Given the description of an element on the screen output the (x, y) to click on. 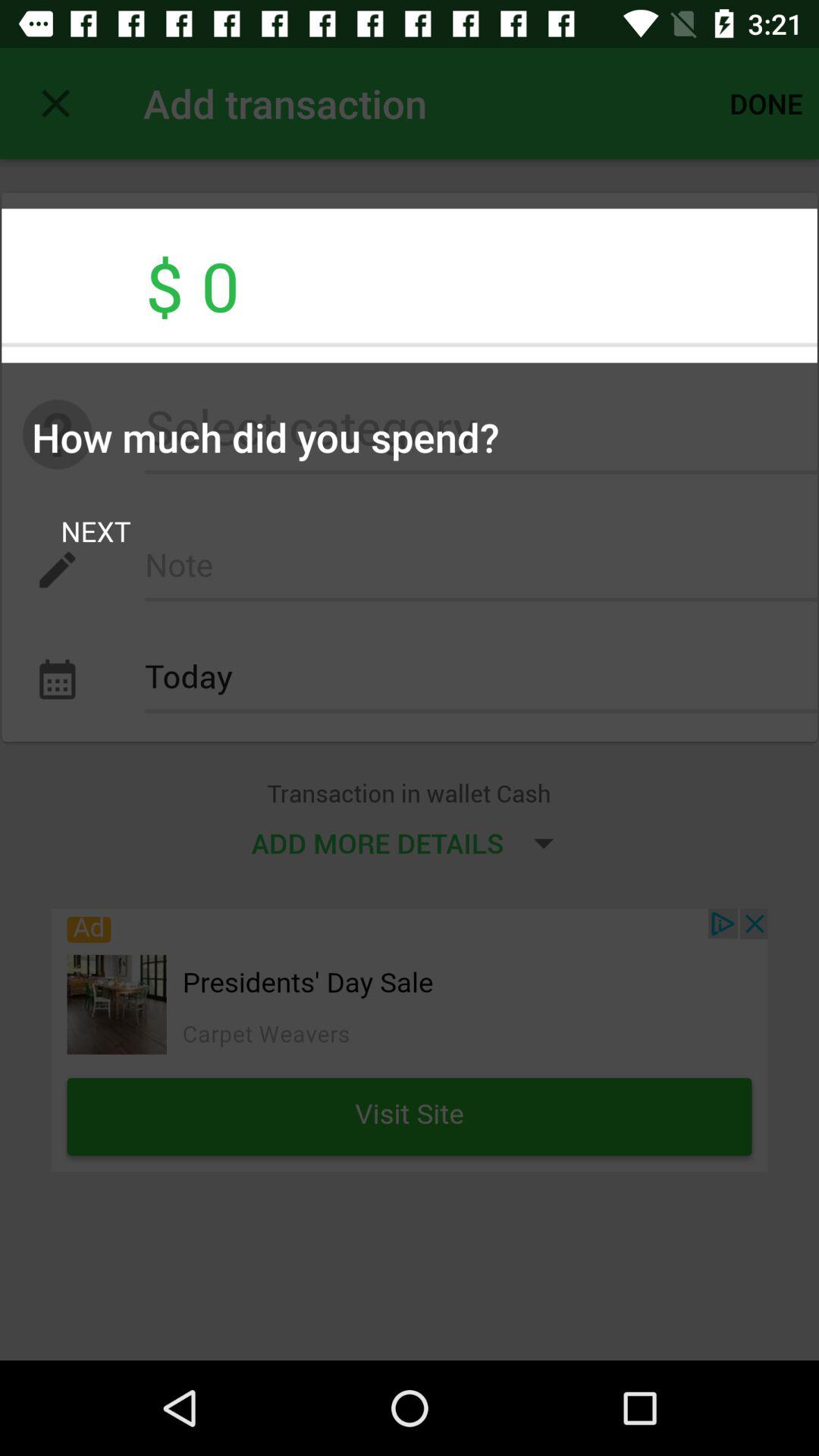
turn on the item to the left of the add transaction icon (55, 103)
